Given the description of an element on the screen output the (x, y) to click on. 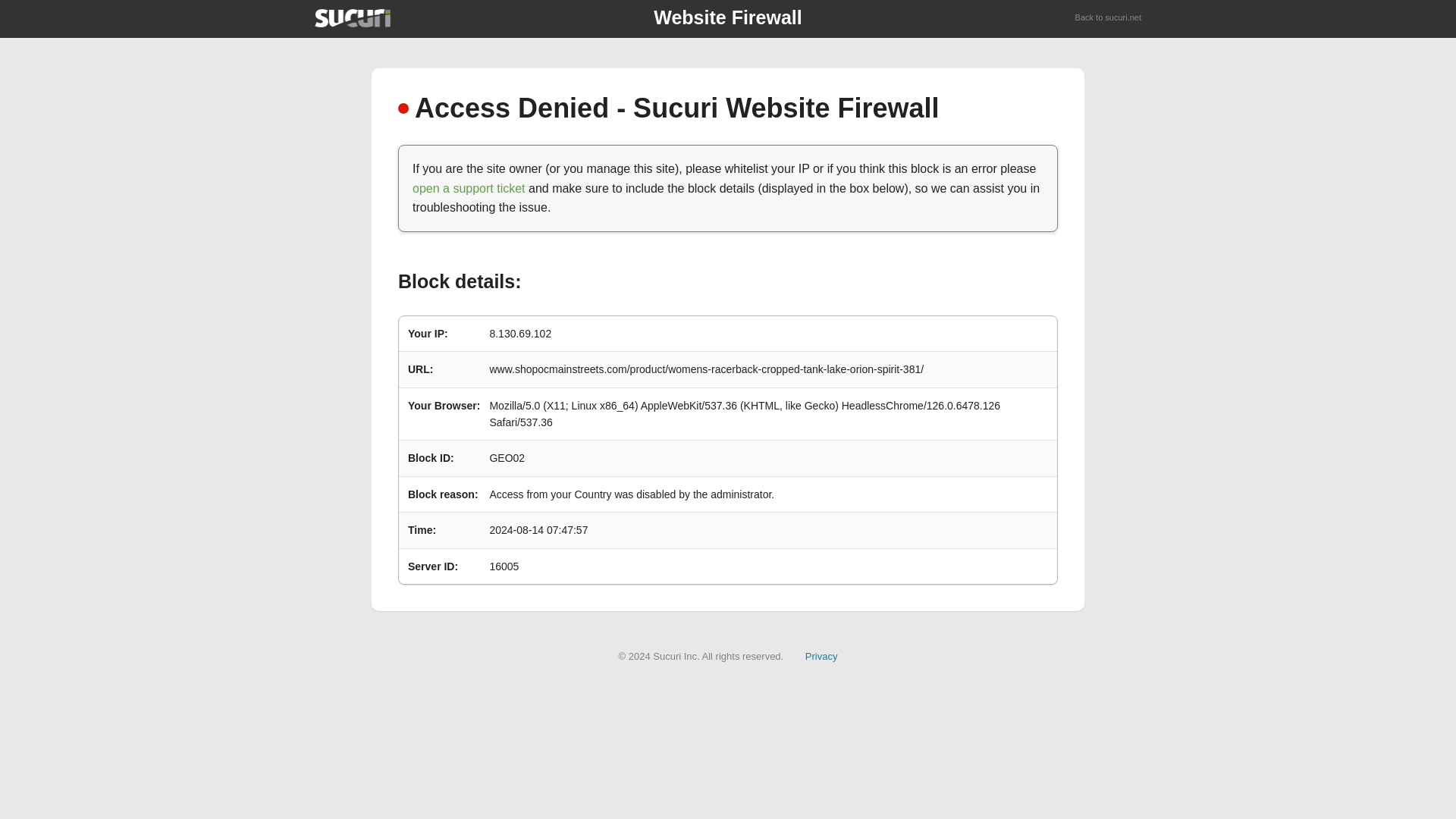
Back to sucuri.net (1108, 18)
Privacy (821, 655)
open a support ticket (468, 187)
